Given the description of an element on the screen output the (x, y) to click on. 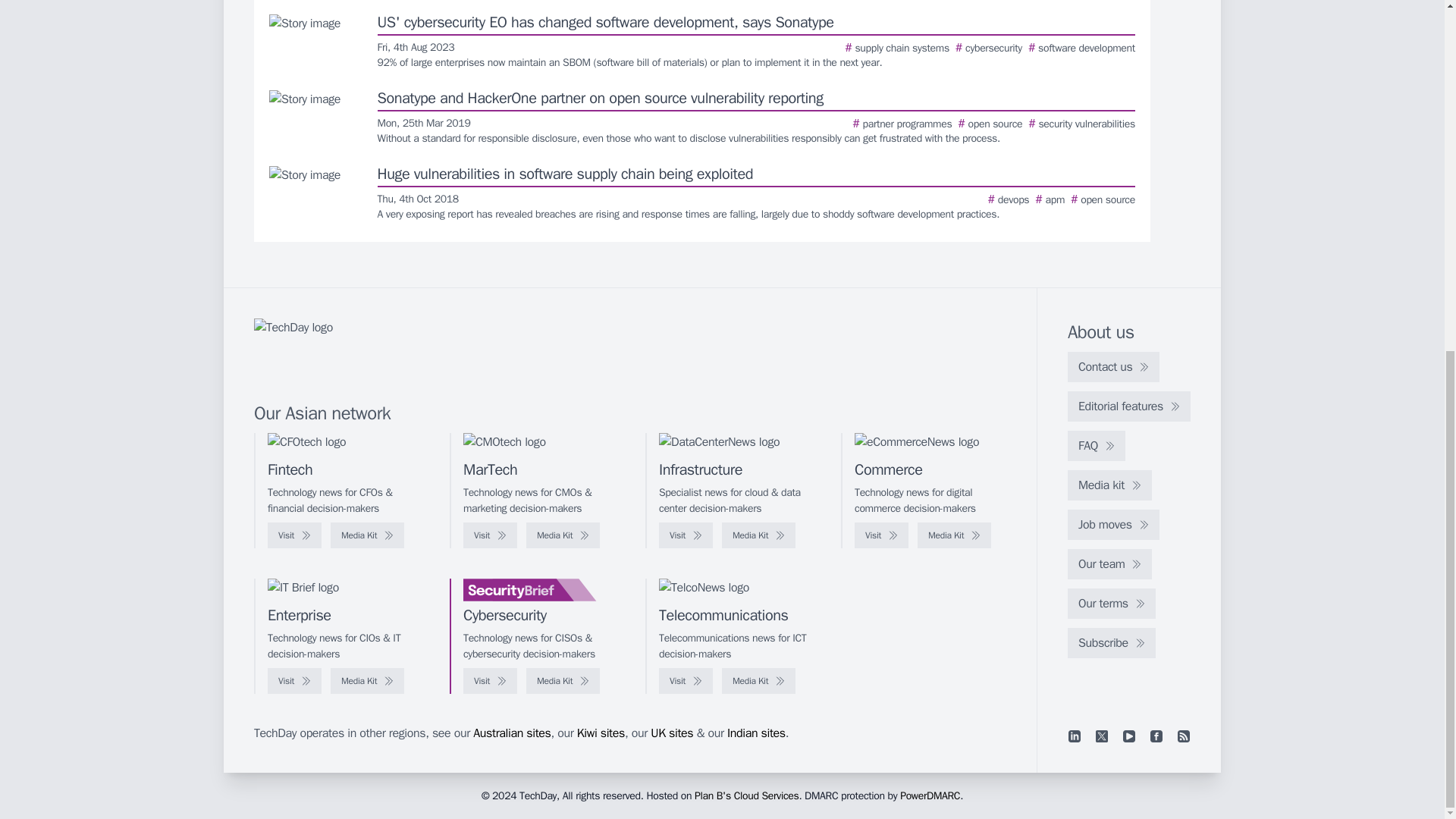
Media Kit (954, 534)
Visit (686, 534)
UK sites (671, 733)
Media Kit (758, 680)
Visit (686, 680)
Australian sites (511, 733)
Visit (294, 680)
Visit (881, 534)
Media Kit (562, 534)
Media Kit (367, 534)
